Given the description of an element on the screen output the (x, y) to click on. 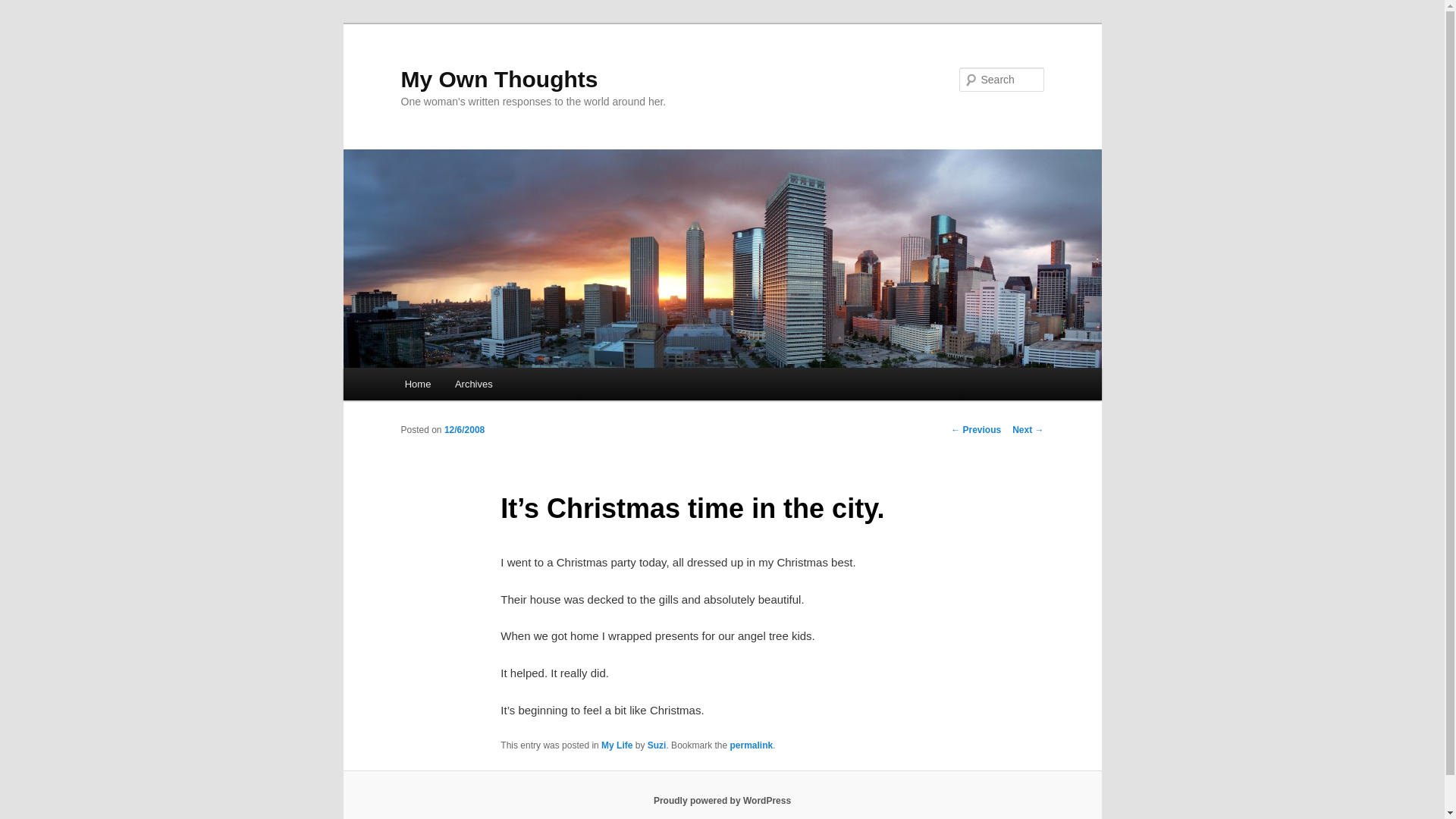
Search (24, 8)
Archives (472, 383)
9:42 pm (464, 429)
permalink (751, 745)
Semantic Personal Publishing Platform (721, 800)
My Own Thoughts (498, 78)
Suzi (656, 745)
Home (417, 383)
My Life (616, 745)
Proudly powered by WordPress (721, 800)
